Given the description of an element on the screen output the (x, y) to click on. 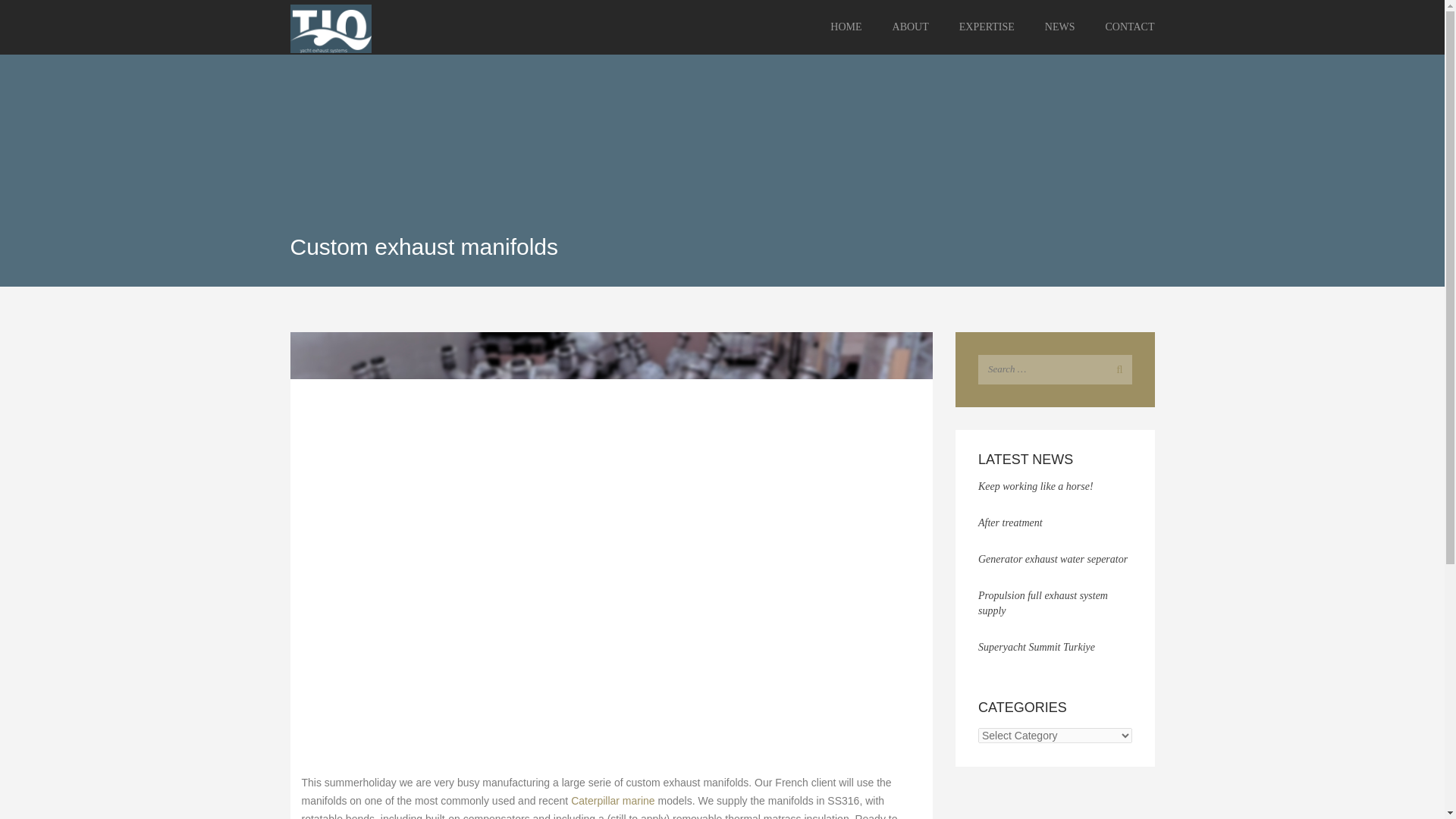
Search (1116, 369)
Superyacht Summit Turkiye (1036, 646)
Keep working like a horse! (1035, 486)
Search (1116, 369)
ABOUT (910, 27)
CONTACT (1122, 27)
TIO Yacht Exhaust Systems (347, 27)
Search (1116, 369)
NEWS (1059, 27)
After treatment (1010, 522)
